Given the description of an element on the screen output the (x, y) to click on. 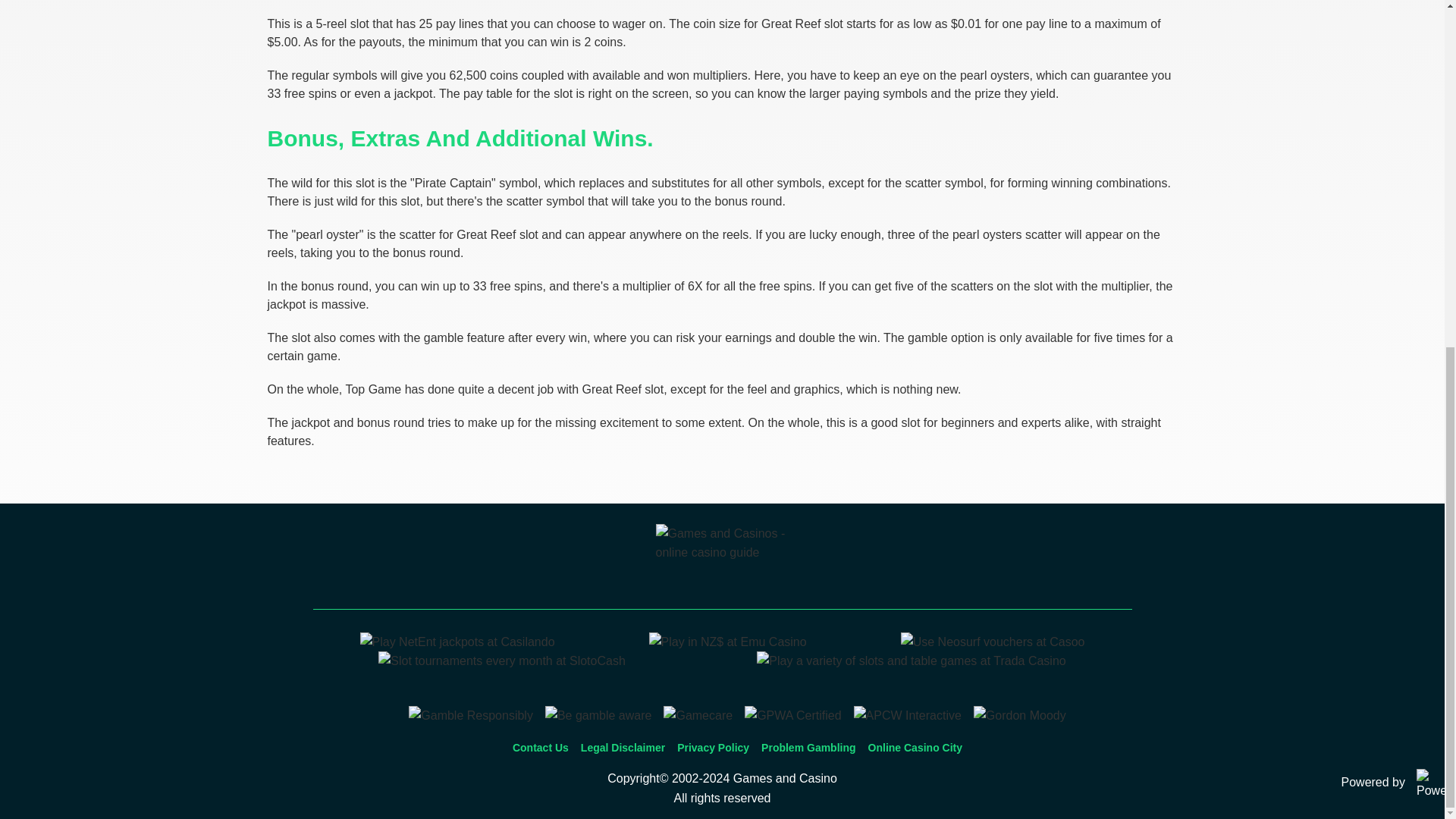
EmuCasino (727, 641)
TradaCasino (911, 660)
Casoo Casino (992, 641)
Sloto'Cash Casino (502, 660)
Casilando (456, 641)
Games and Casinos - online casino guide (722, 561)
